Given the description of an element on the screen output the (x, y) to click on. 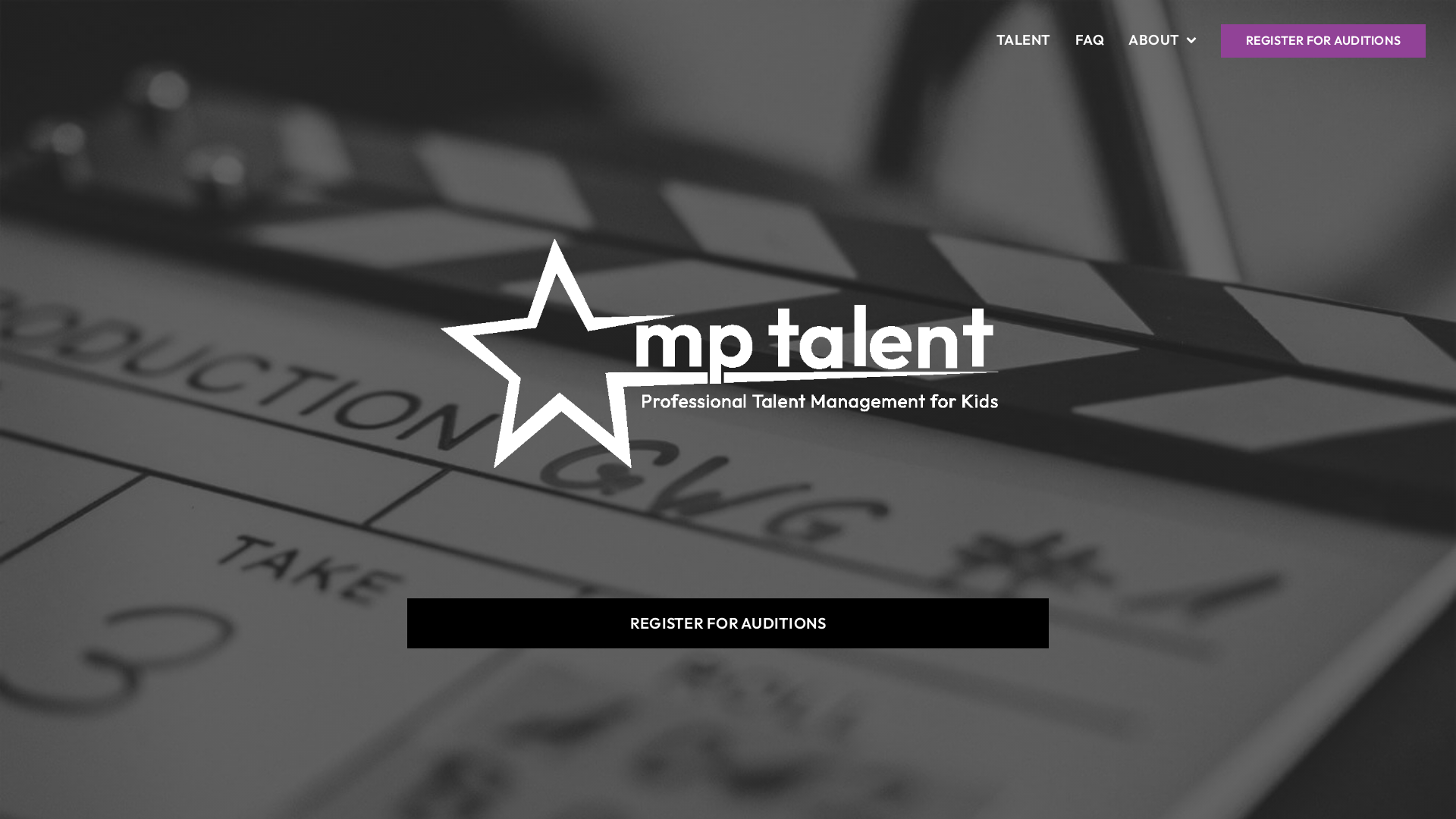
TALENT Element type: text (1023, 40)
REGISTER FOR AUDITIONS Element type: text (1323, 40)
ABOUT Element type: text (1162, 40)
REGISTER FOR AUDITIONS Element type: text (727, 623)
FAQ Element type: text (1090, 40)
